Given the description of an element on the screen output the (x, y) to click on. 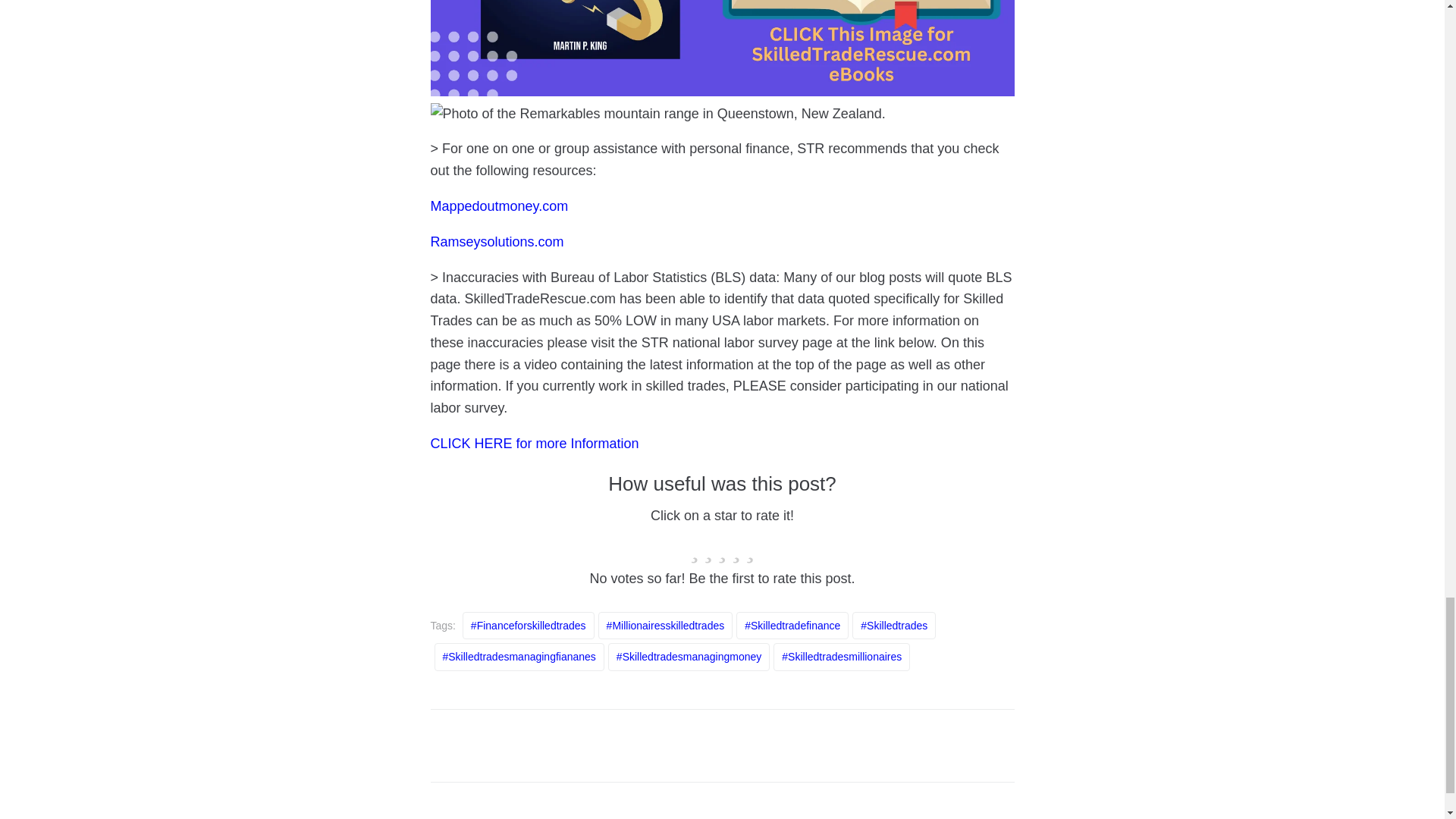
Mappedoutmoney.com (499, 206)
Ramseysolutions.com (497, 241)
CLICK HERE for more Information (534, 443)
